Given the description of an element on the screen output the (x, y) to click on. 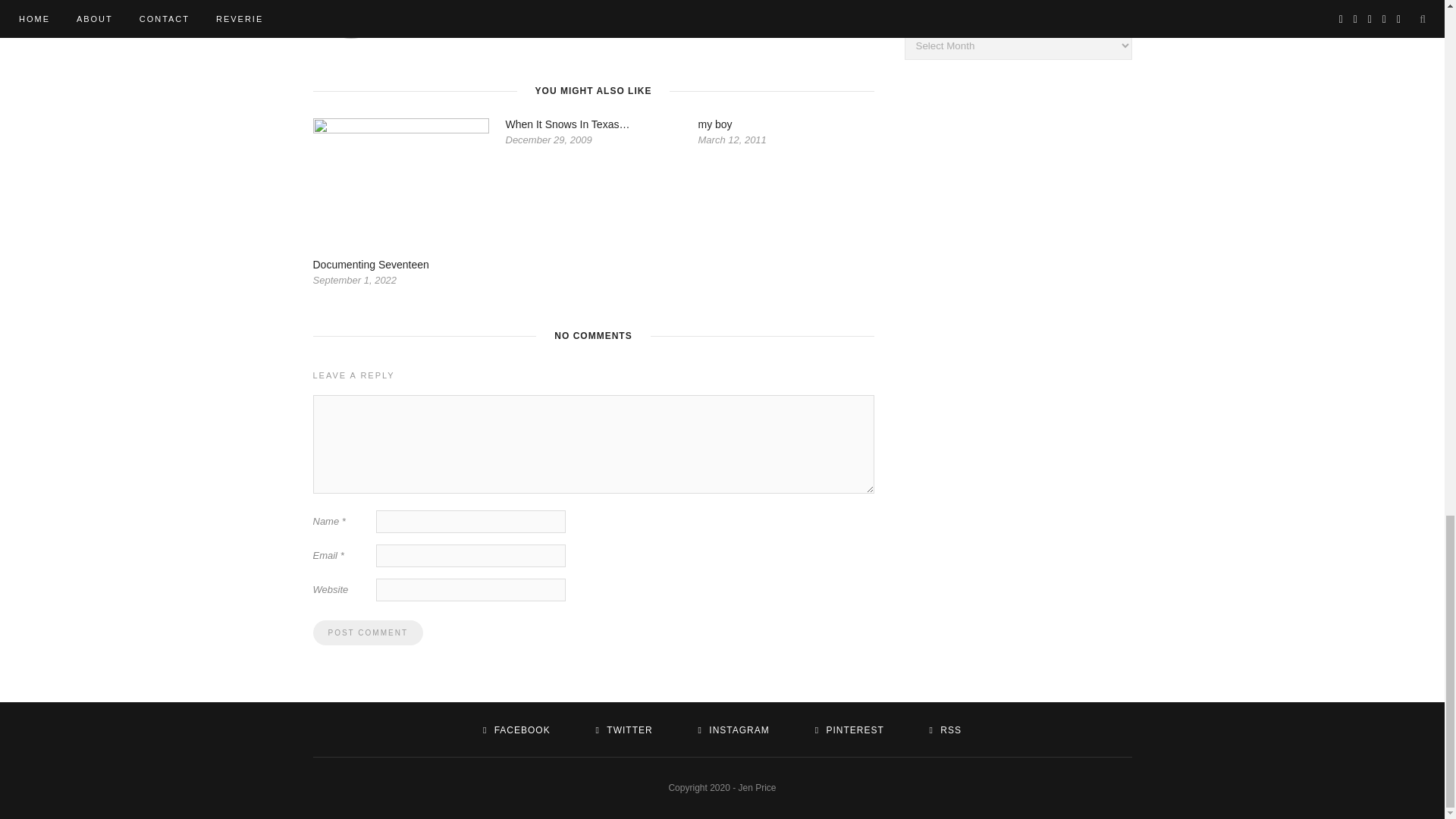
Documenting Seventeen (370, 264)
RSS (945, 729)
TWITTER (623, 729)
FACEBOOK (516, 729)
INSTAGRAM (734, 729)
PINTEREST (849, 729)
Post Comment (367, 632)
my boy (714, 123)
Post Comment (367, 632)
